Given the description of an element on the screen output the (x, y) to click on. 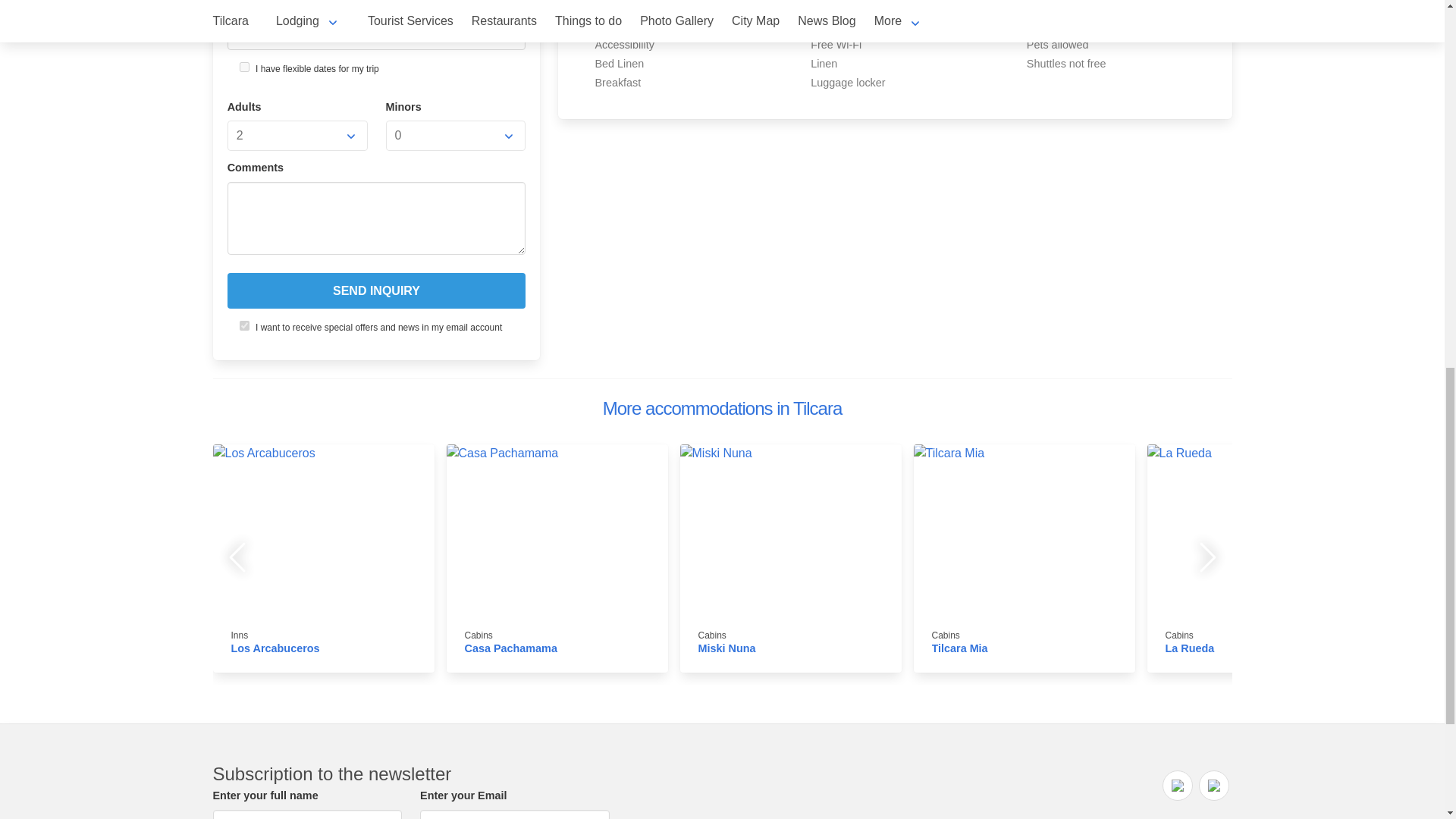
More accommodations in Tilcara (721, 408)
Los Arcabuceros (274, 648)
Send inquiry (376, 290)
Send inquiry (376, 290)
FechasFlexibles (244, 67)
Casa Pachamama (510, 648)
1 (244, 325)
